Given the description of an element on the screen output the (x, y) to click on. 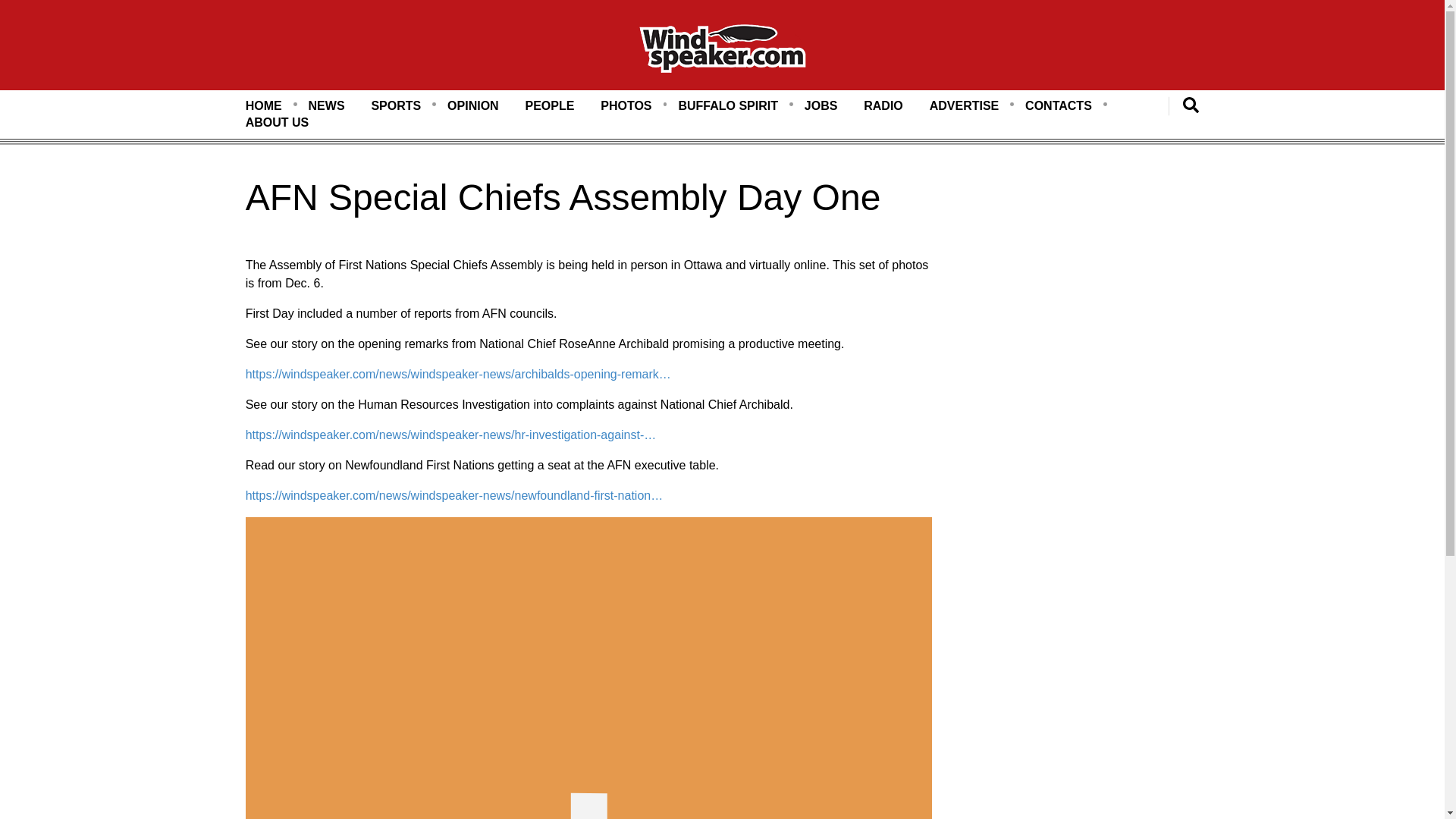
SPORTS (395, 105)
PEOPLE (548, 105)
Home (722, 50)
JOBS (821, 105)
RADIO (882, 105)
Buffalo Spirit (727, 105)
HOME (264, 105)
OPINION (472, 105)
BUFFALO SPIRIT (727, 105)
Opinion (472, 105)
